Given the description of an element on the screen output the (x, y) to click on. 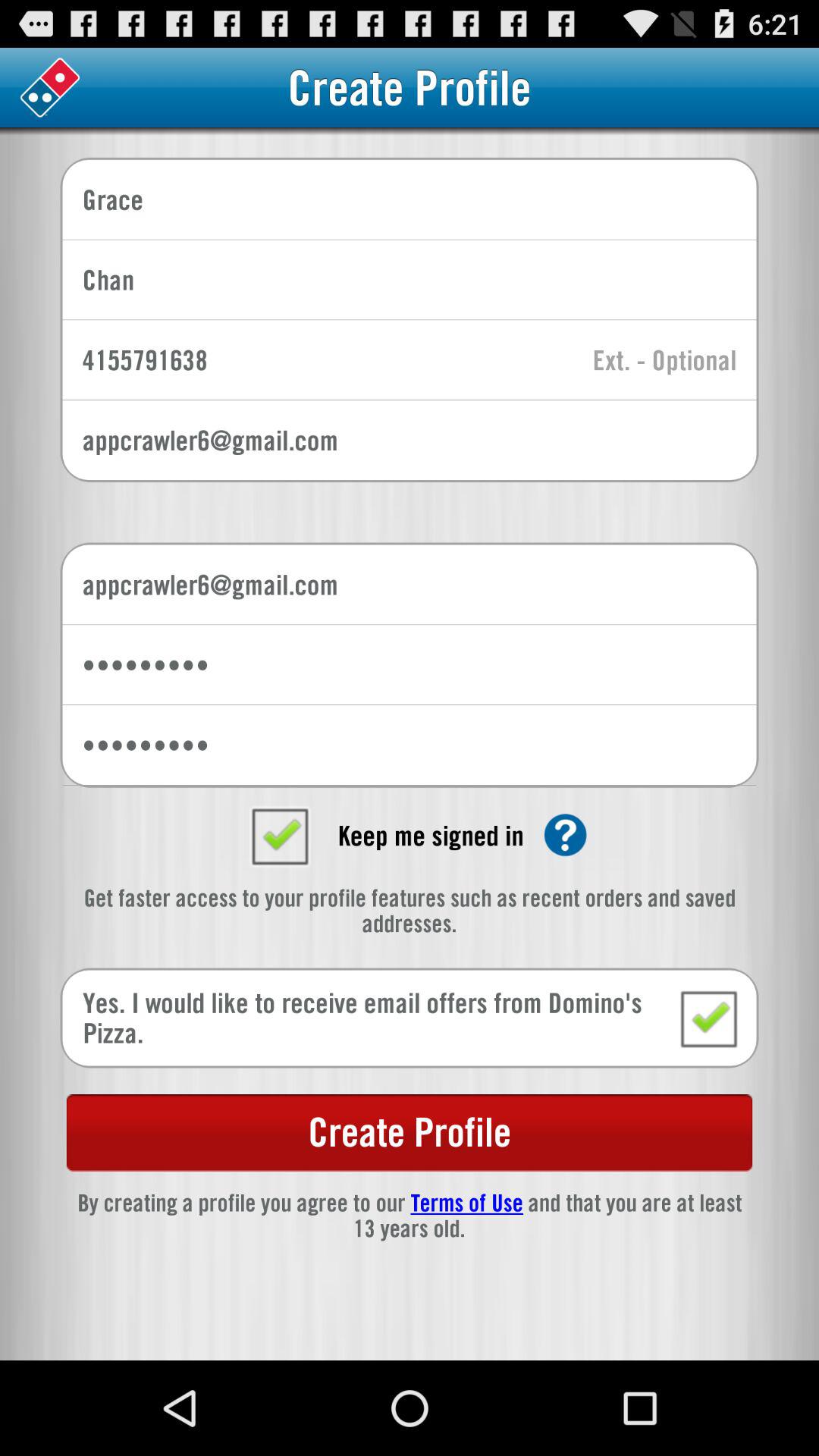
help (565, 835)
